Given the description of an element on the screen output the (x, y) to click on. 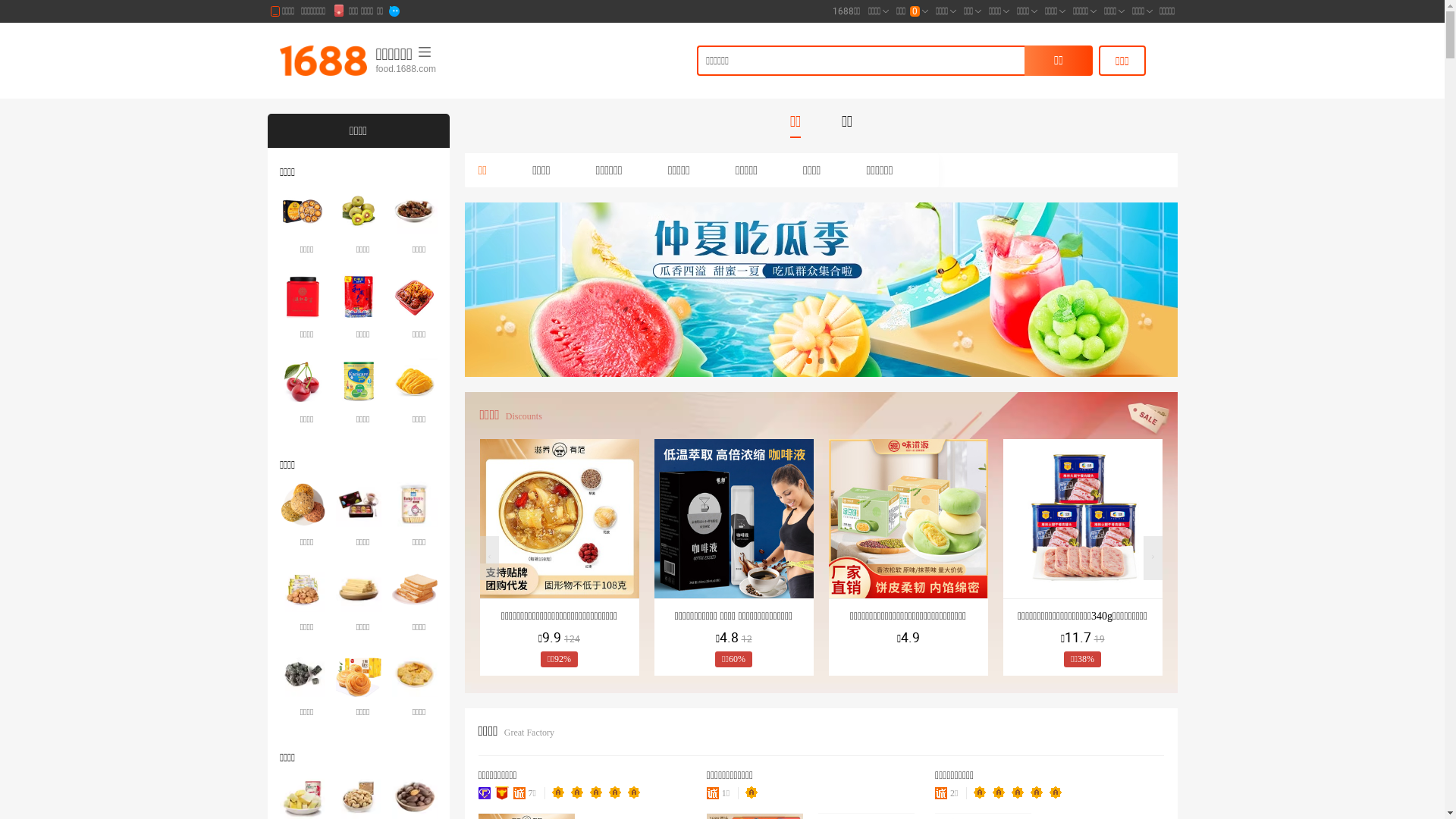
food.1688.com Element type: text (451, 69)
